Given the description of an element on the screen output the (x, y) to click on. 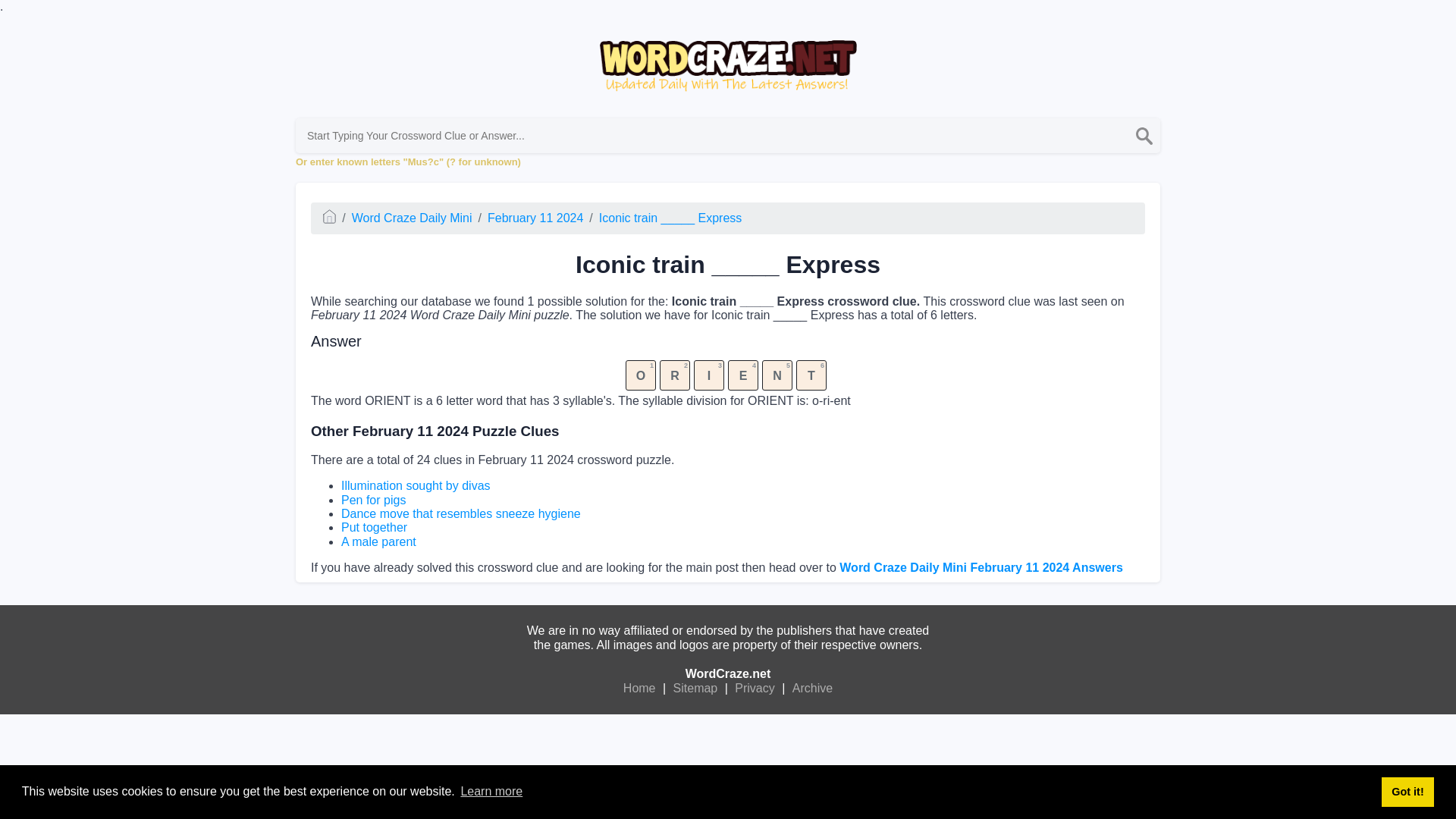
Archive (812, 688)
Put together (373, 526)
A male parent (378, 541)
Privacy (753, 688)
Home (639, 688)
WordCraze.net (728, 673)
Sitemap (695, 688)
Pen for pigs (373, 499)
Word Craze Daily Mini February 11 2024 Answers (981, 567)
Word Craze Daily Mini (411, 217)
